Given the description of an element on the screen output the (x, y) to click on. 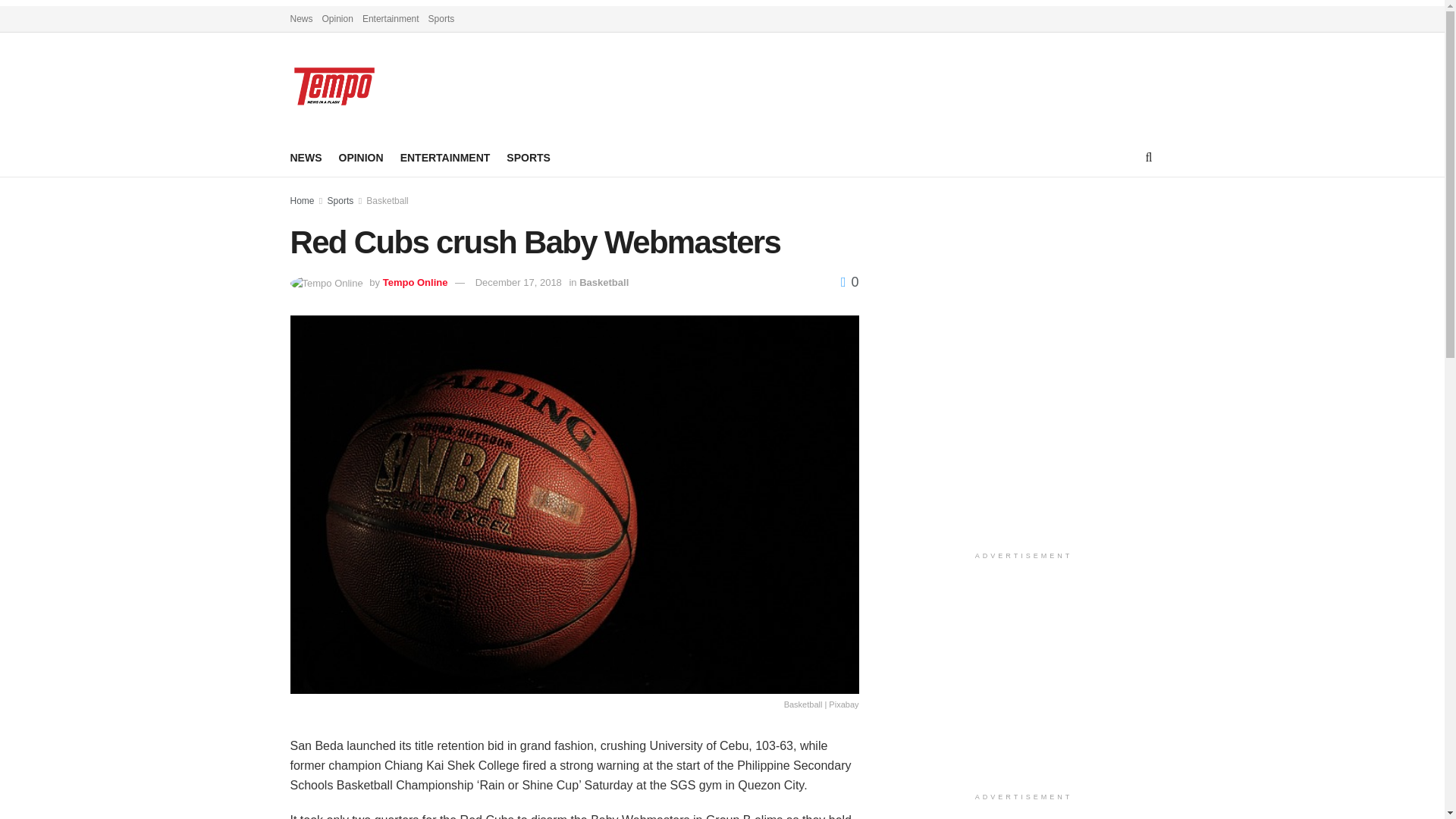
OPINION (359, 157)
NEWS (305, 157)
Basketball (386, 200)
Tempo Online (415, 282)
Home (301, 200)
ENTERTAINMENT (445, 157)
0 (850, 281)
December 17, 2018 (519, 282)
Basketball (603, 282)
Entertainment (390, 18)
